Given the description of an element on the screen output the (x, y) to click on. 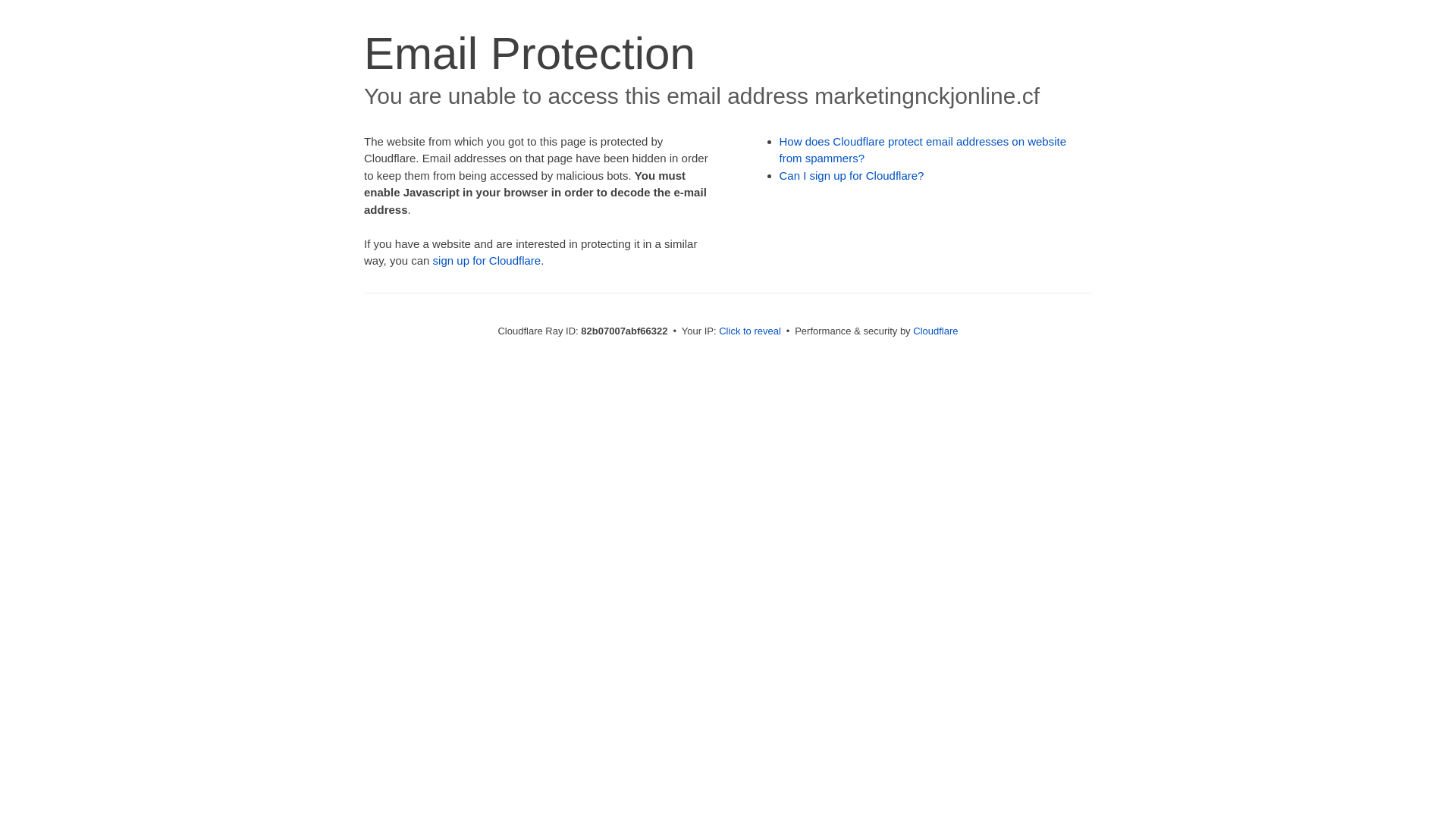
Cloudflare Element type: text (935, 330)
Click to reveal Element type: text (749, 330)
Can I sign up for Cloudflare? Element type: text (851, 175)
sign up for Cloudflare Element type: text (487, 260)
